Given the description of an element on the screen output the (x, y) to click on. 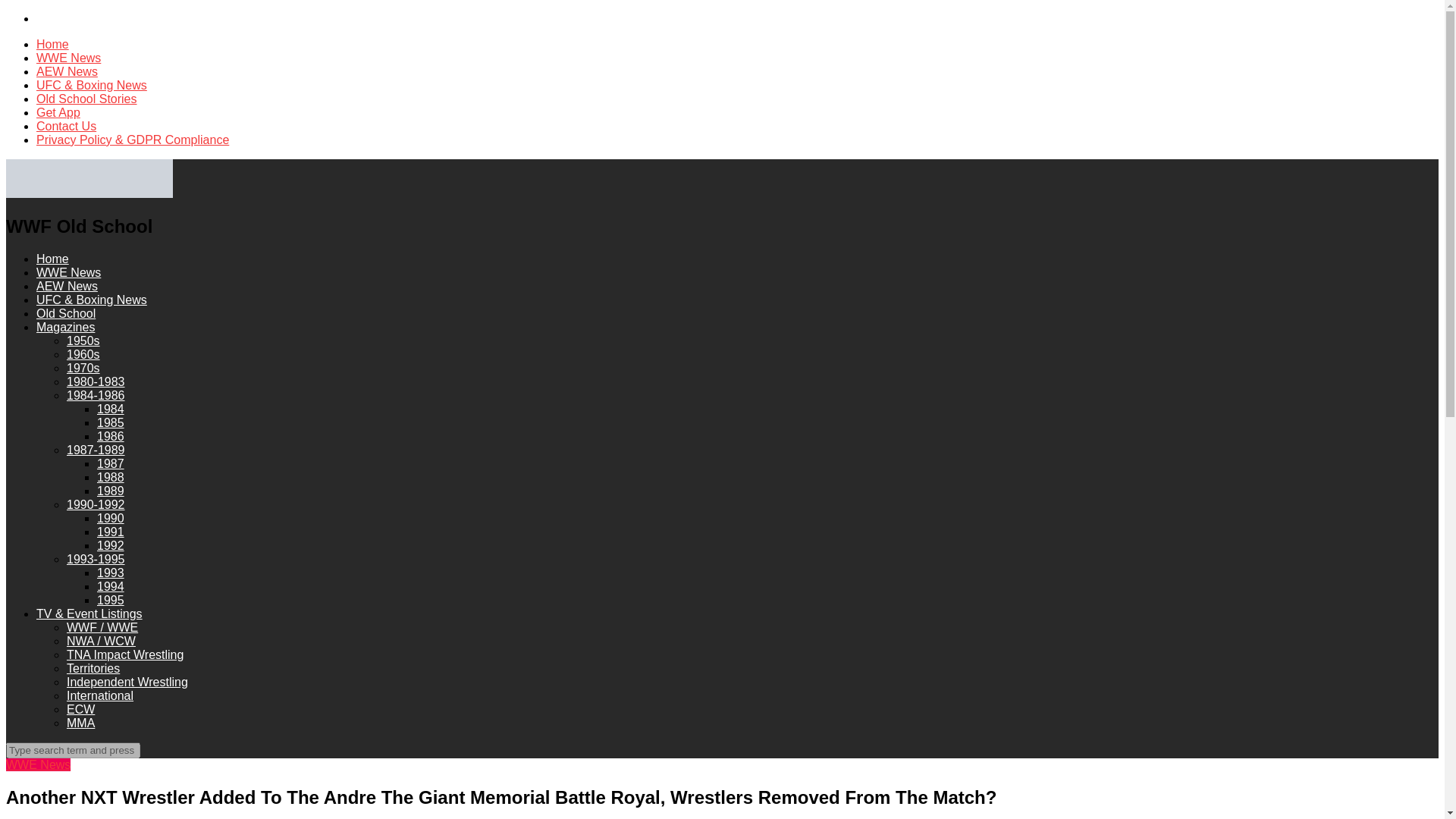
1950s (83, 340)
1995 (110, 599)
1988 (110, 477)
1987 (110, 463)
Contact Us (66, 125)
AEW News (66, 71)
1985 (110, 422)
1991 (110, 531)
1993 (110, 572)
Magazines (65, 327)
